Given the description of an element on the screen output the (x, y) to click on. 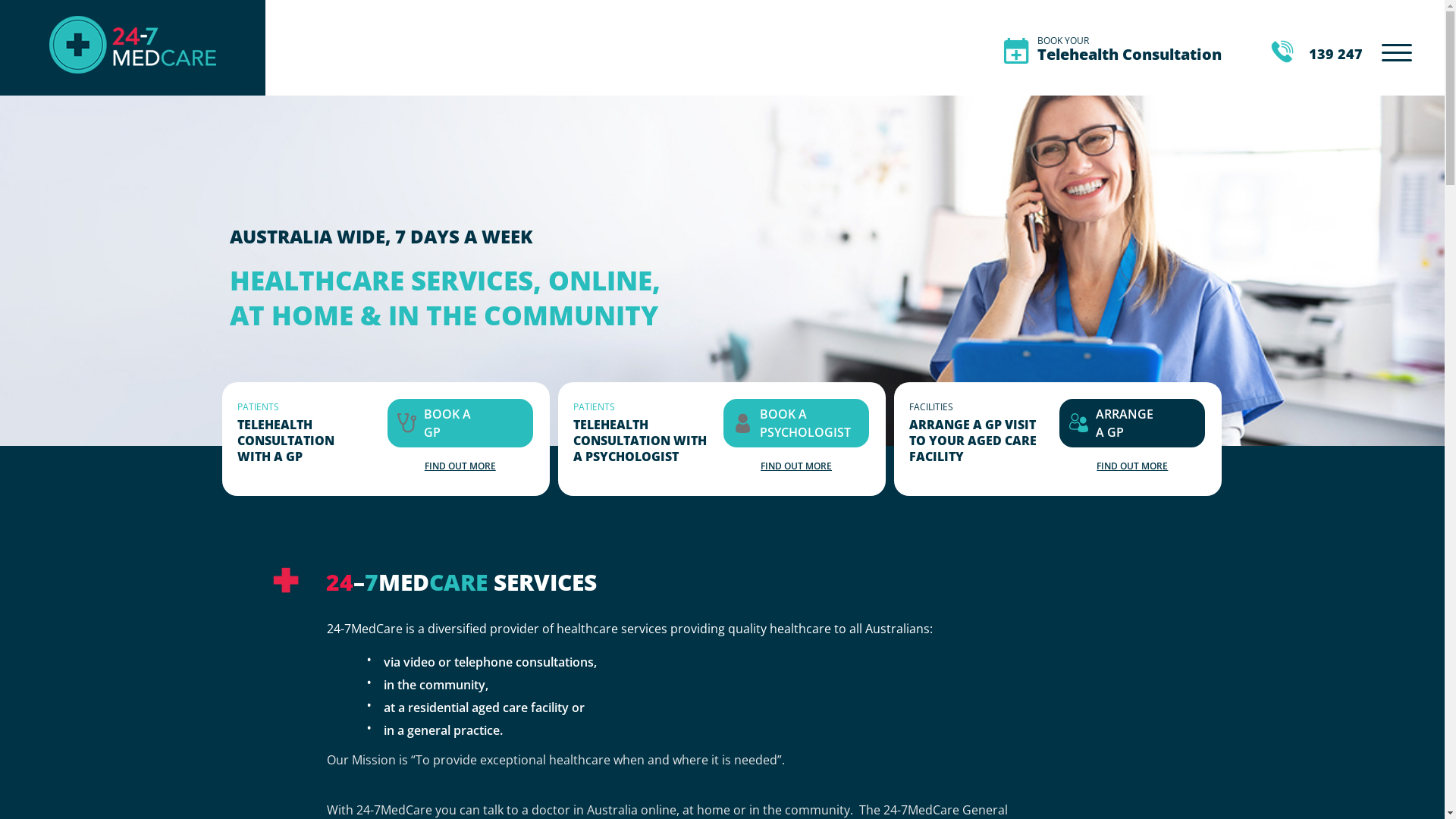
BOOK A
GP Element type: text (446, 422)
FIND OUT MORE Element type: text (459, 465)
BOOK A
GP Element type: text (459, 422)
BOOK YOUR
Telehealth Consultation Element type: text (1129, 48)
ARRANGE
A GP Element type: text (1124, 422)
Home 7 Element type: hover (406, 423)
FIND OUT MORE Element type: text (795, 465)
ARRANGE
A GP Element type: text (1131, 422)
BOOK A
PSYCHOLOGIST Element type: text (795, 422)
BOOK A
PSYCHOLOGIST Element type: text (804, 422)
Home 9 Element type: hover (1078, 423)
FIND OUT MORE Element type: text (1131, 465)
Telehealth GPs and psychologists Australia Element type: hover (132, 85)
Home 8 Element type: hover (742, 423)
139 247 Element type: text (1316, 53)
